Given the description of an element on the screen output the (x, y) to click on. 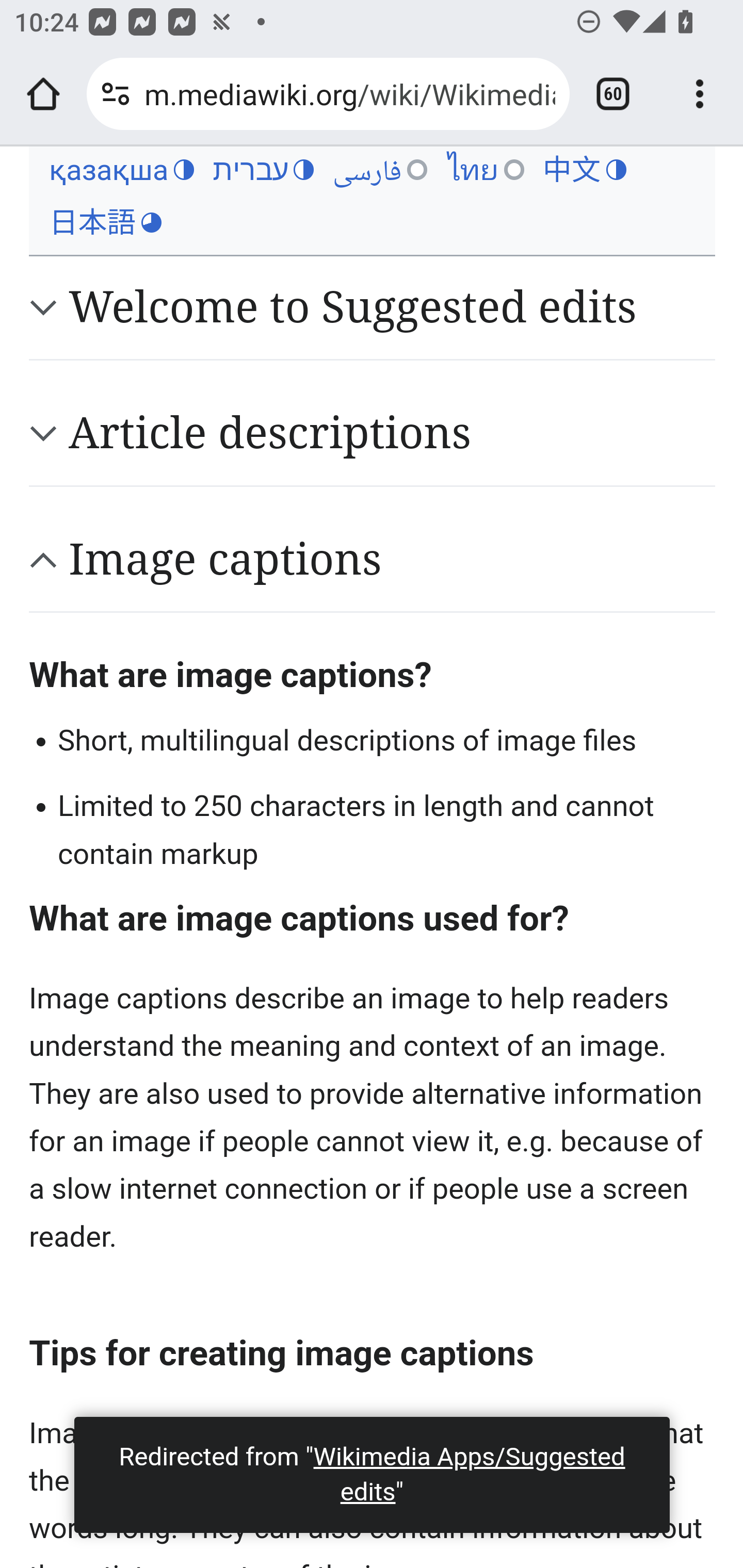
Open the home page (43, 93)
Connection is secure (115, 93)
Switch or close tabs (612, 93)
Customize and control Google Chrome (699, 93)
қазақша (121, 170)
עברית (263, 170)
فارسی (379, 170)
ไทย (484, 170)
中文 (583, 170)
日本語 (105, 222)
Welcome to Suggested edits (392, 306)
Article descriptions (392, 433)
Image captions (392, 558)
Wikimedia Apps/Suggested edits (469, 1473)
